Given the description of an element on the screen output the (x, y) to click on. 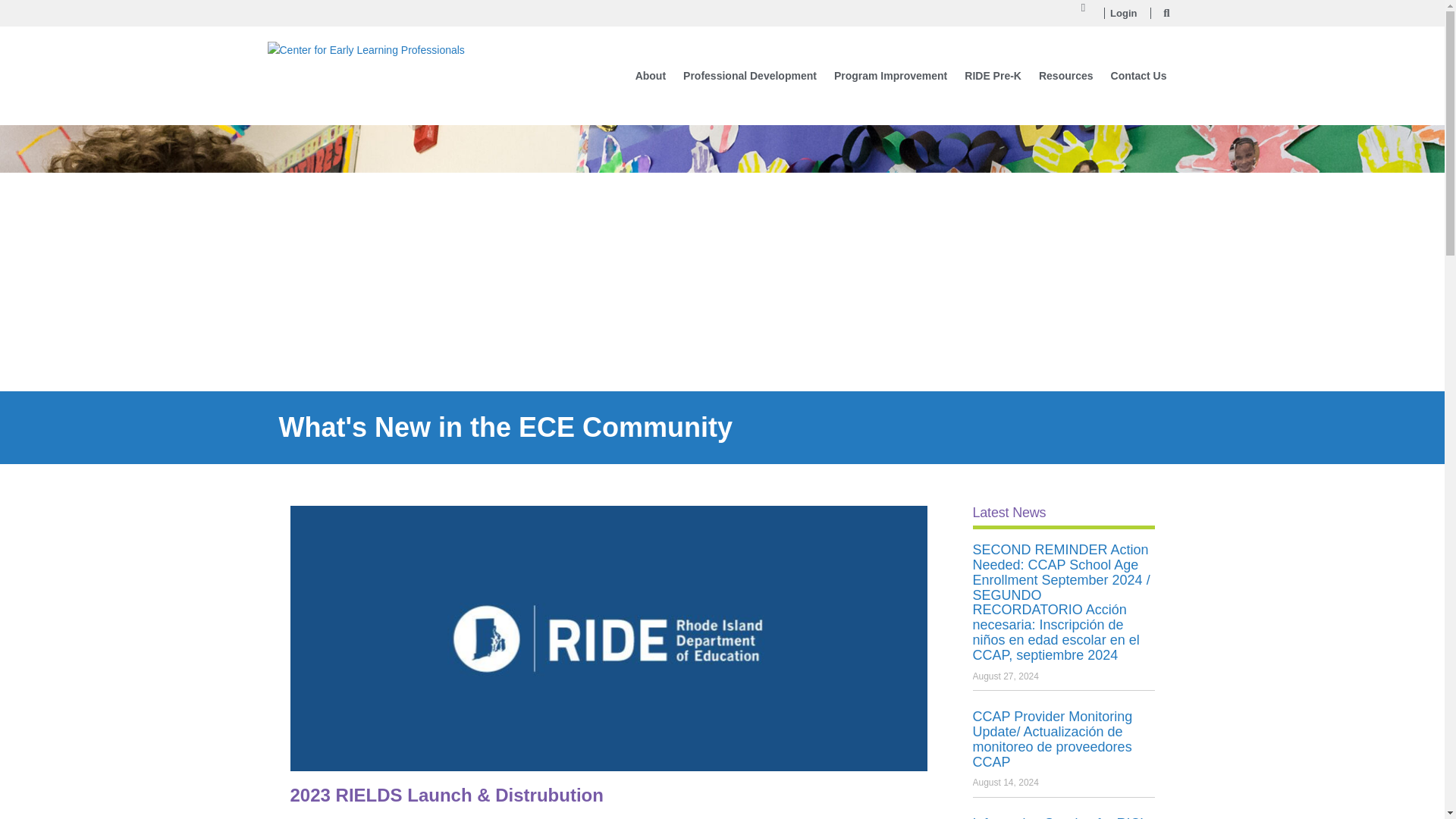
Login (1123, 13)
Professional Development (749, 75)
Program Improvement (891, 75)
RIDE Pre-K (992, 75)
Resources (1065, 75)
About (649, 75)
Contact Us (1138, 75)
